Given the description of an element on the screen output the (x, y) to click on. 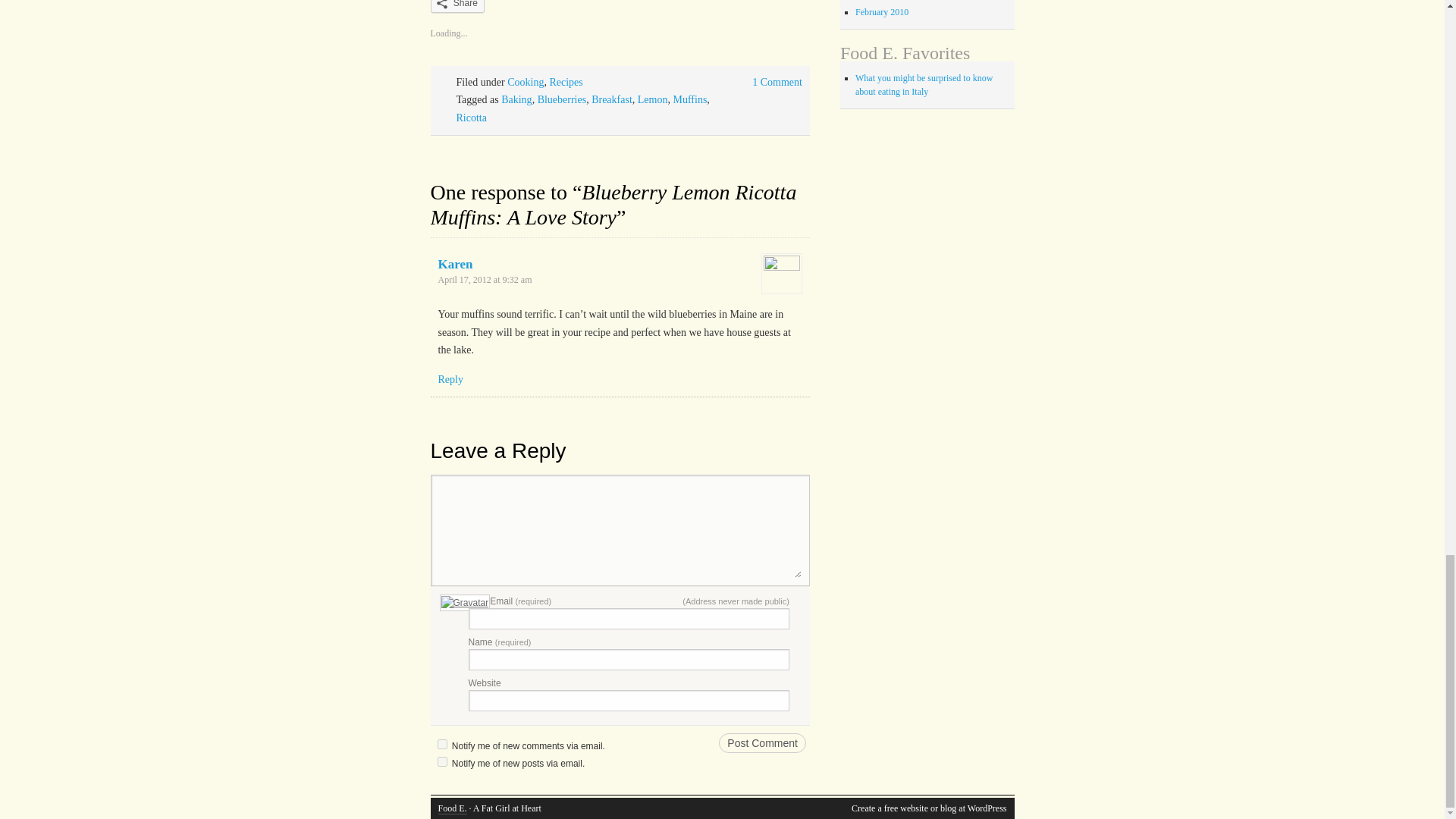
Breakfast (611, 99)
subscribe (441, 761)
1 Comment (777, 81)
Lemon (652, 99)
Karen (455, 264)
Blueberries (561, 99)
Share (457, 6)
Cooking (524, 81)
Enter your comment here... (619, 530)
Post Comment (762, 742)
